Given the description of an element on the screen output the (x, y) to click on. 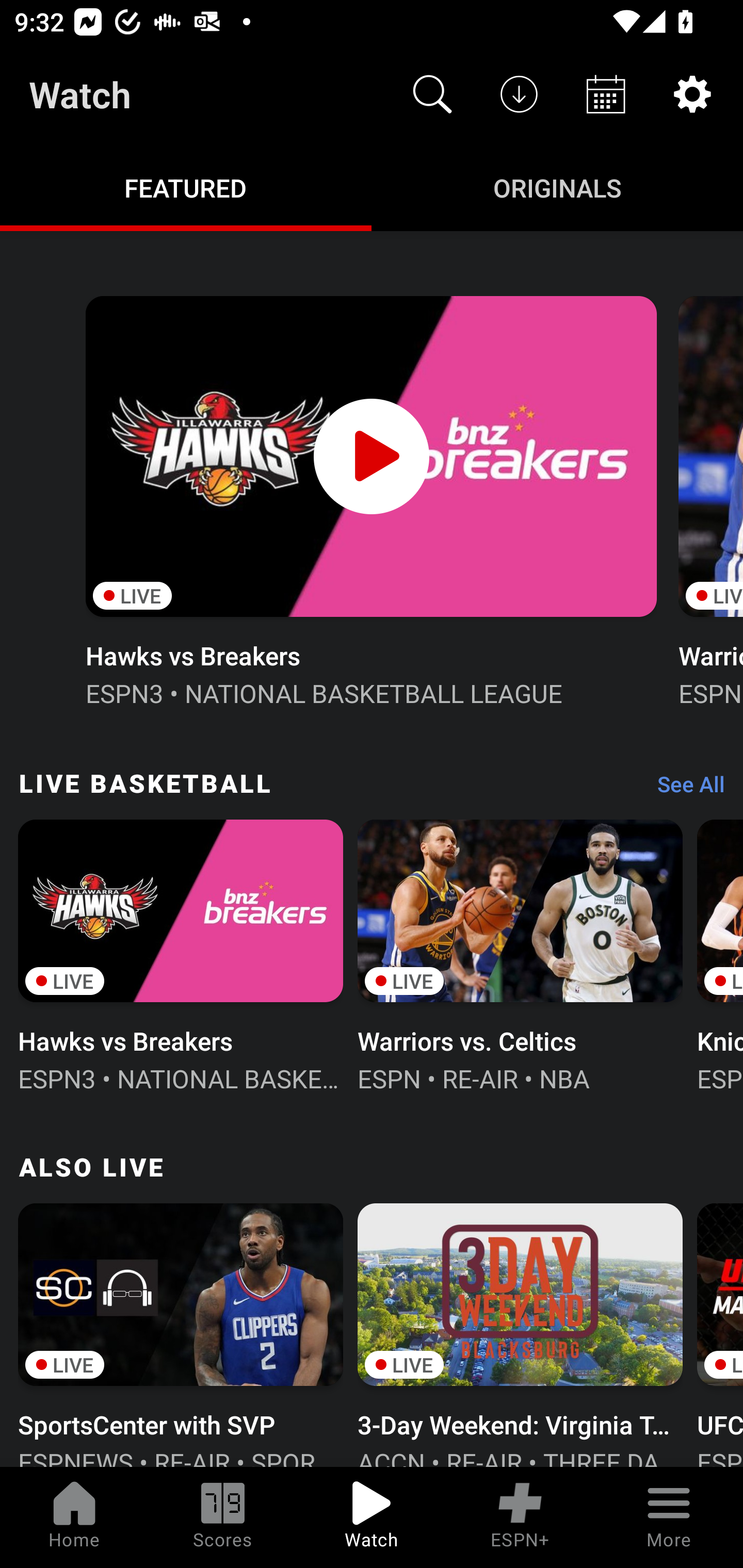
Search (432, 93)
Downloads (518, 93)
Schedule (605, 93)
Settings (692, 93)
Originals ORIGINALS (557, 187)
See All (683, 788)
LIVE Warriors vs. Celtics ESPN • RE-AIR • NBA (519, 954)
Home (74, 1517)
Scores (222, 1517)
ESPN+ (519, 1517)
More (668, 1517)
